Given the description of an element on the screen output the (x, y) to click on. 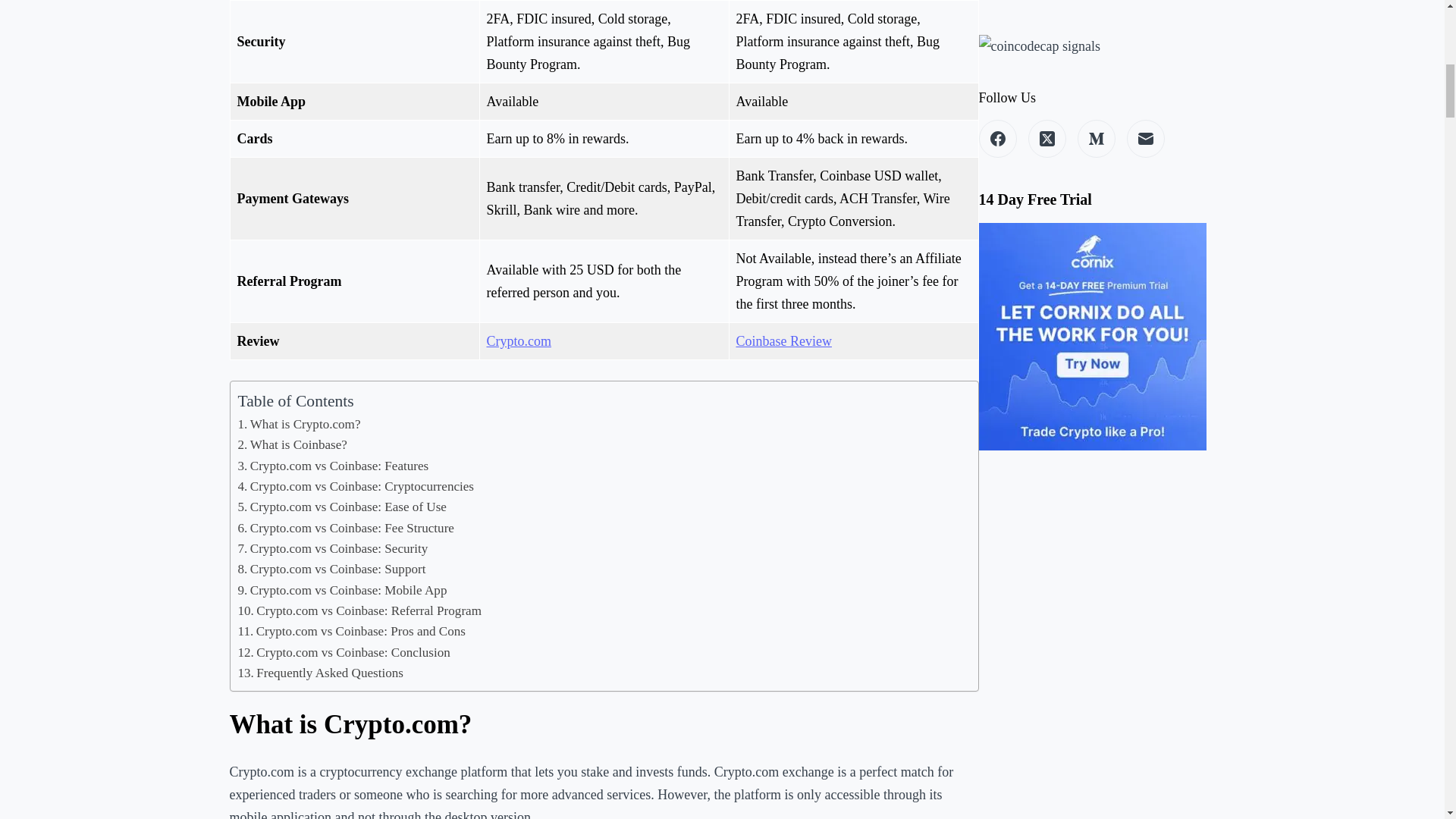
Crypto.com vs Coinbase: Support (332, 568)
Crypto.com vs Coinbase: Mobile App (342, 589)
Crypto.com vs Coinbase: Features (333, 465)
Crypto.com vs Coinbase: Referral Program (359, 610)
Crypto.com vs Coinbase: Conclusion (343, 652)
Crypto.com vs Coinbase: Security (333, 548)
Crypto.com vs Coinbase: Cryptocurrencies (356, 485)
Frequently Asked Questions (321, 672)
Crypto.com vs Coinbase: Pros and Cons (351, 630)
What is Crypto.com? (299, 424)
Crypto.com vs Coinbase: Fee Structure (346, 527)
Crypto.com vs Coinbase: Ease of Use (342, 506)
What is Coinbase? (292, 444)
